Given the description of an element on the screen output the (x, y) to click on. 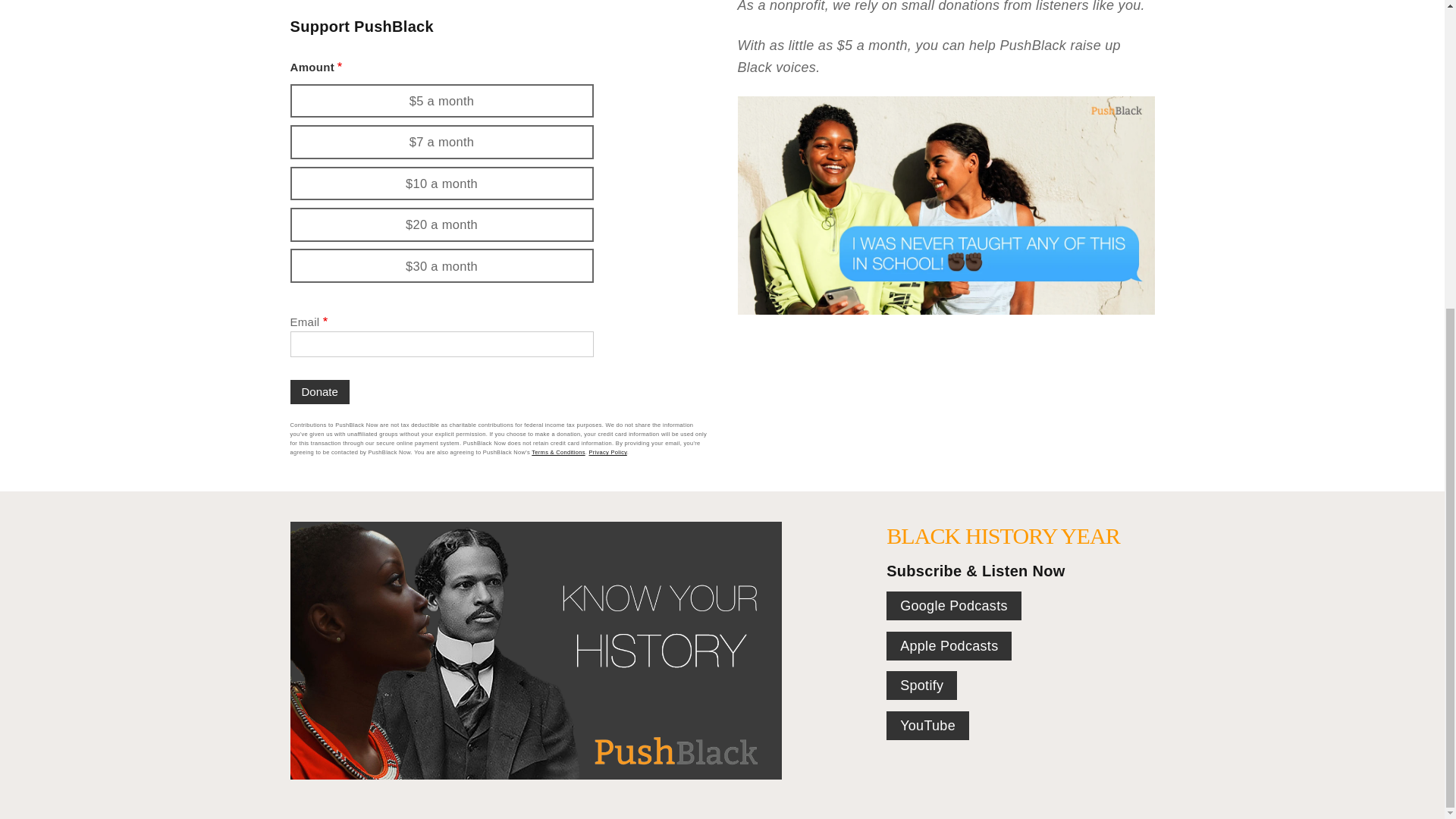
Google Podcasts (954, 605)
Spotify (921, 685)
YouTube (927, 725)
Apple Podcasts (948, 645)
Donate (319, 392)
Privacy Policy (607, 451)
Donate (319, 392)
